Given the description of an element on the screen output the (x, y) to click on. 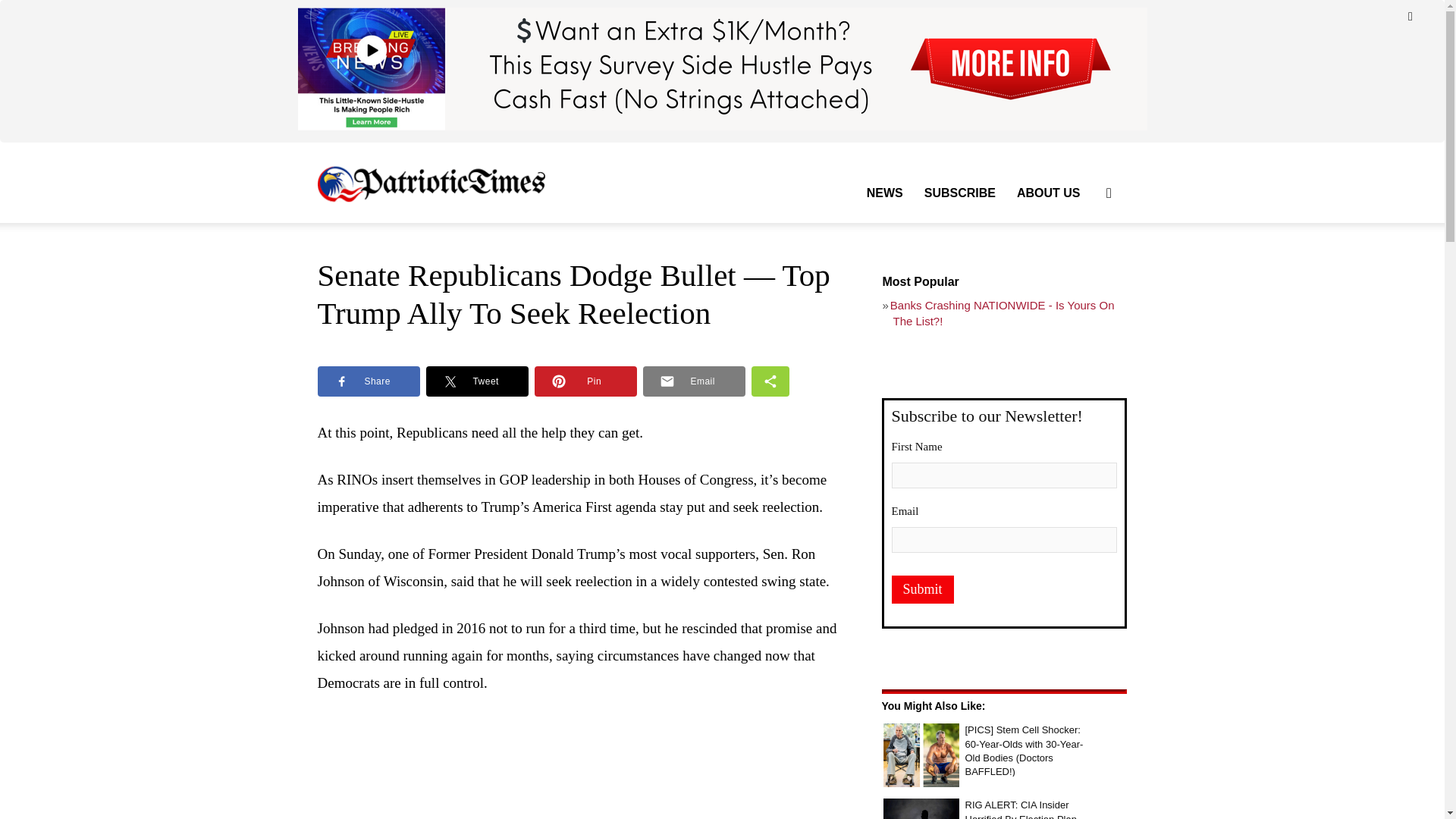
Submit (922, 589)
ABOUT US (1048, 192)
Search (1085, 265)
SUBSCRIBE (960, 192)
The Patriotic Times (430, 182)
NEWS (885, 192)
